Given the description of an element on the screen output the (x, y) to click on. 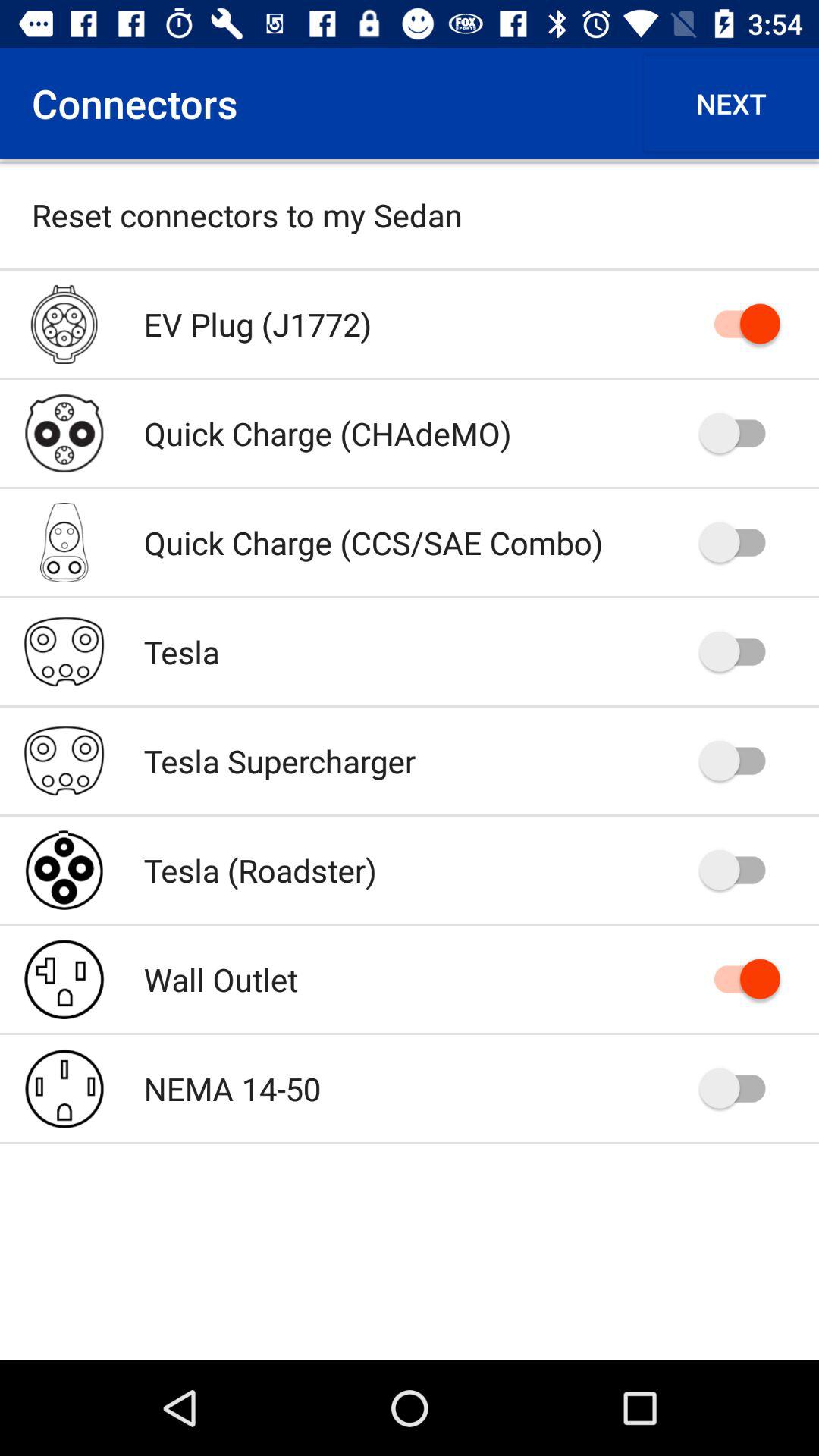
choose item next to the connectors (731, 103)
